Given the description of an element on the screen output the (x, y) to click on. 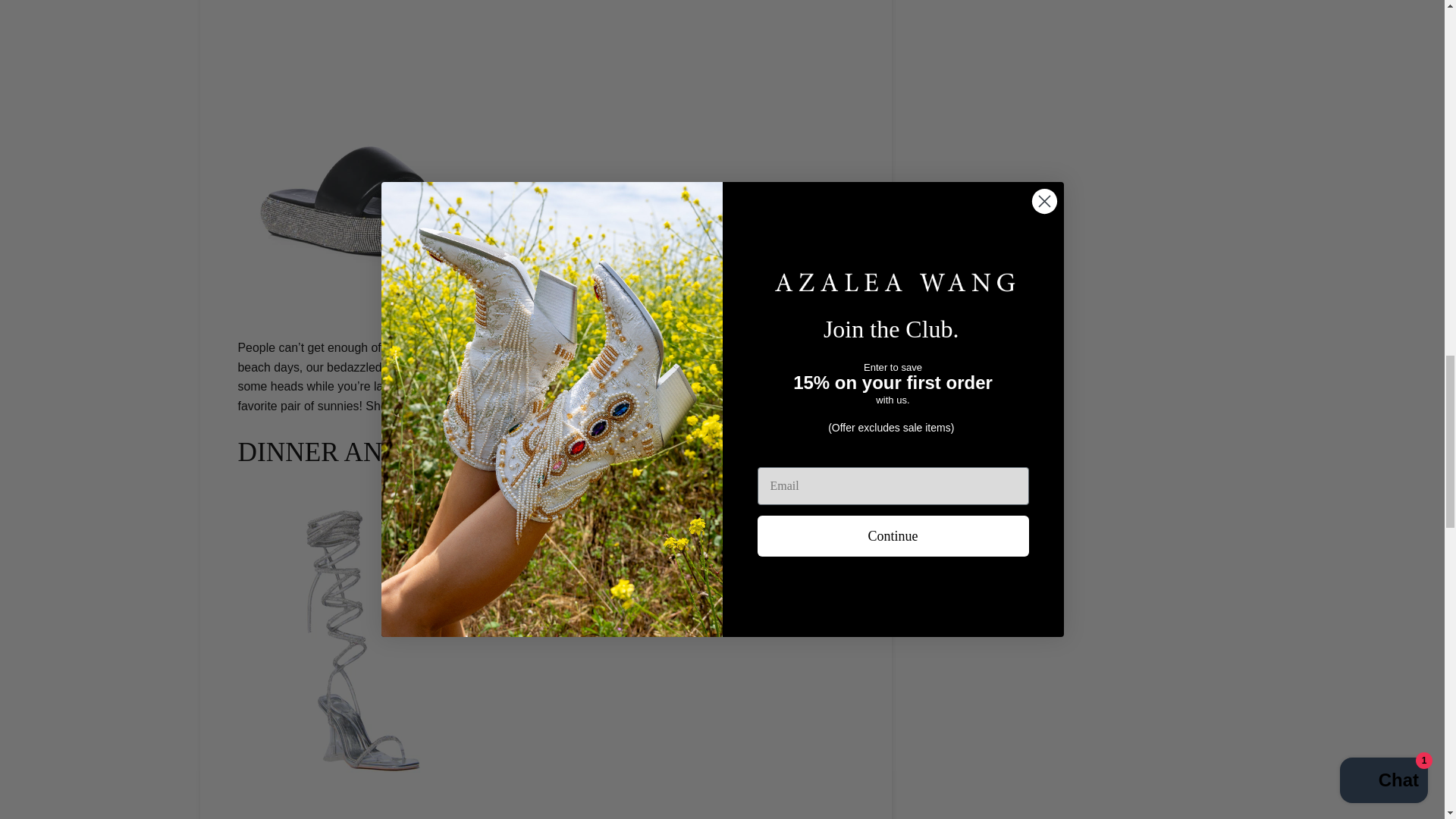
SWITZLERLAND-BLACK FLAT SANDAL (474, 405)
